Given the description of an element on the screen output the (x, y) to click on. 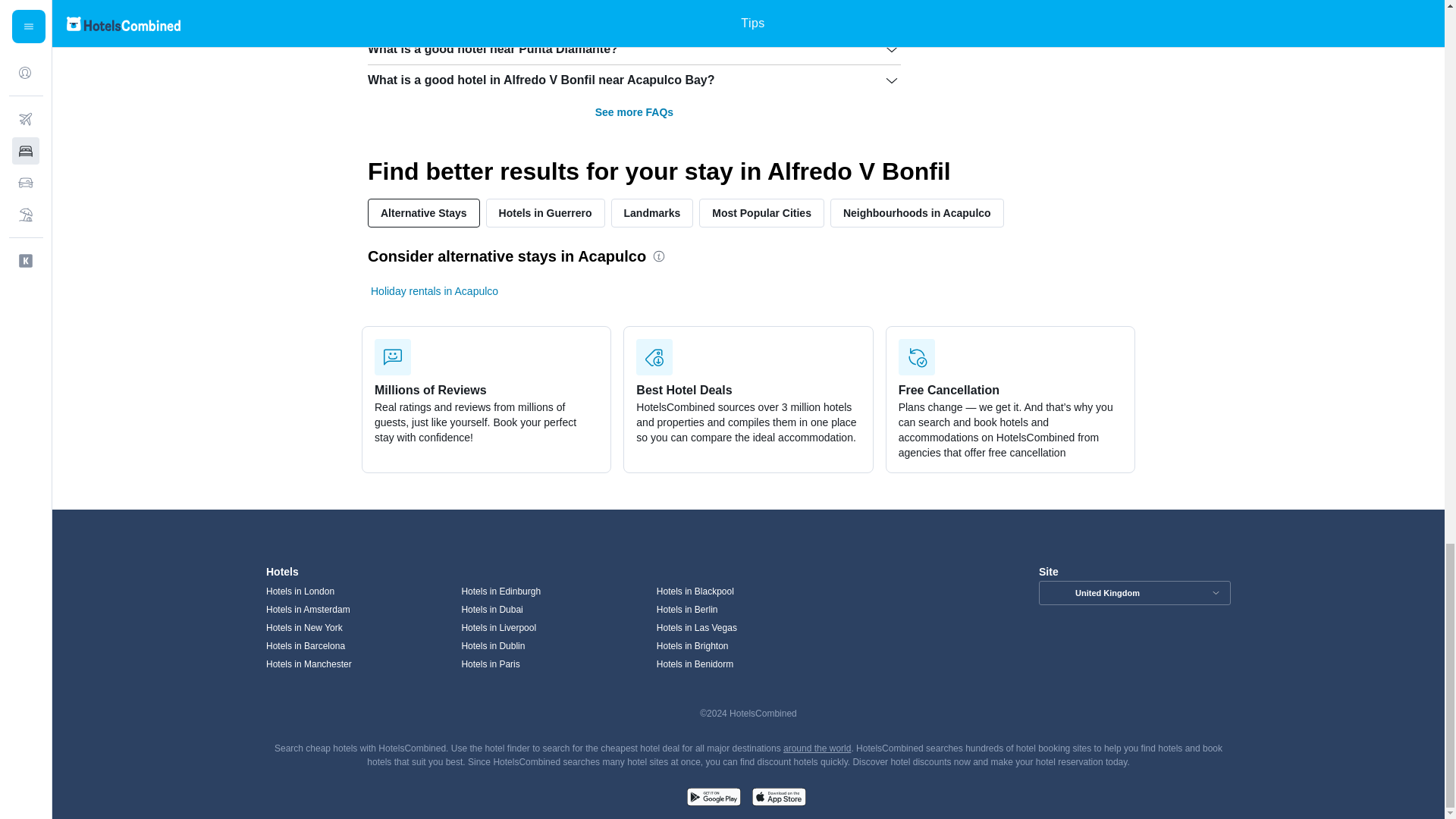
Get it on Google Play (713, 798)
Hotels in Guerrero (545, 213)
Landmarks (652, 213)
Holiday rentals in Acapulco (434, 290)
Most Popular Cities (761, 213)
Alternative Stays (424, 213)
Neighbourhoods in Acapulco (916, 213)
Download on the App Store (778, 798)
